Given the description of an element on the screen output the (x, y) to click on. 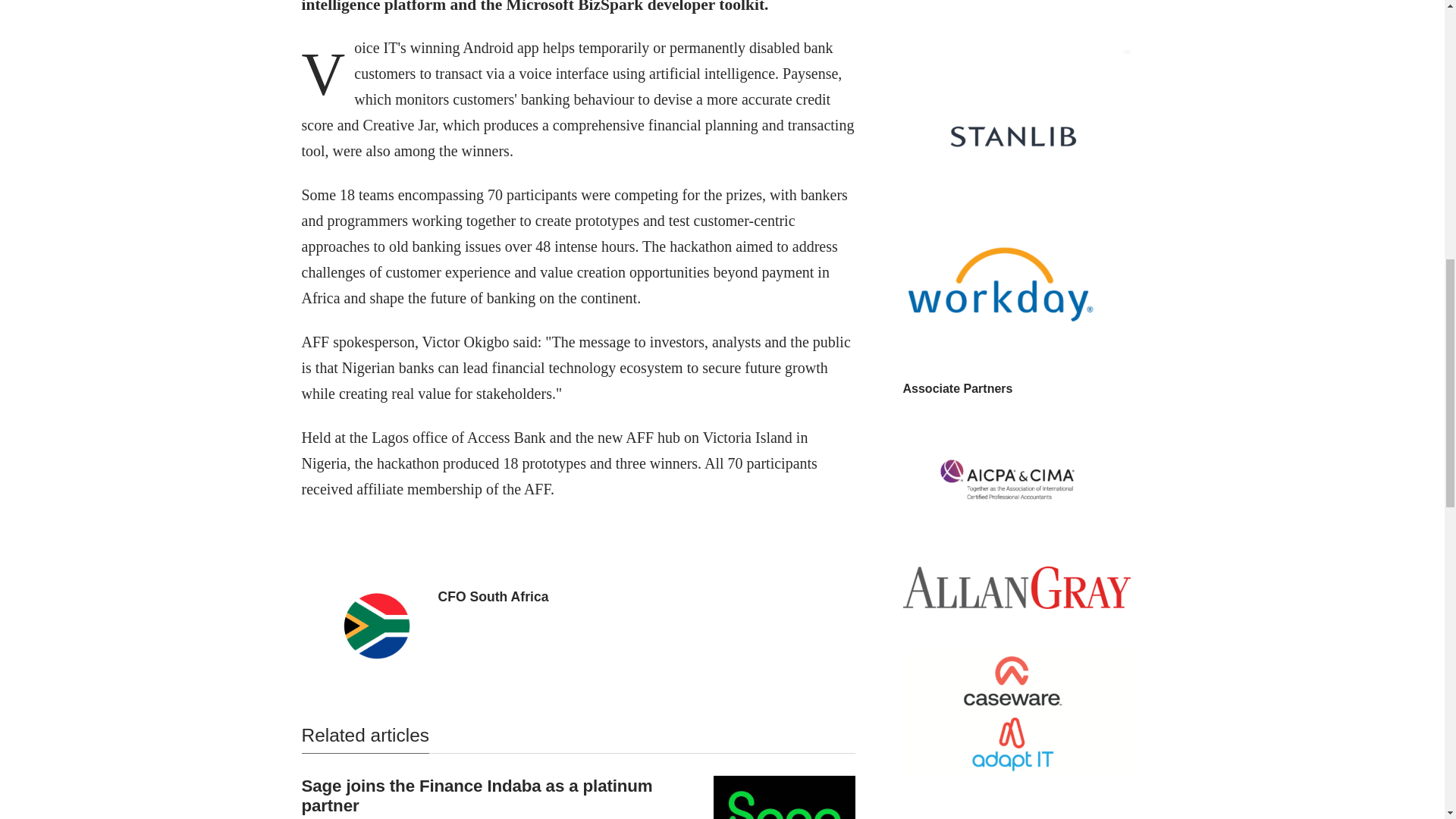
CFO South Africa (493, 596)
Sage joins the Finance Indaba as a platinum partner (476, 794)
CFO South Africa (493, 596)
